Given the description of an element on the screen output the (x, y) to click on. 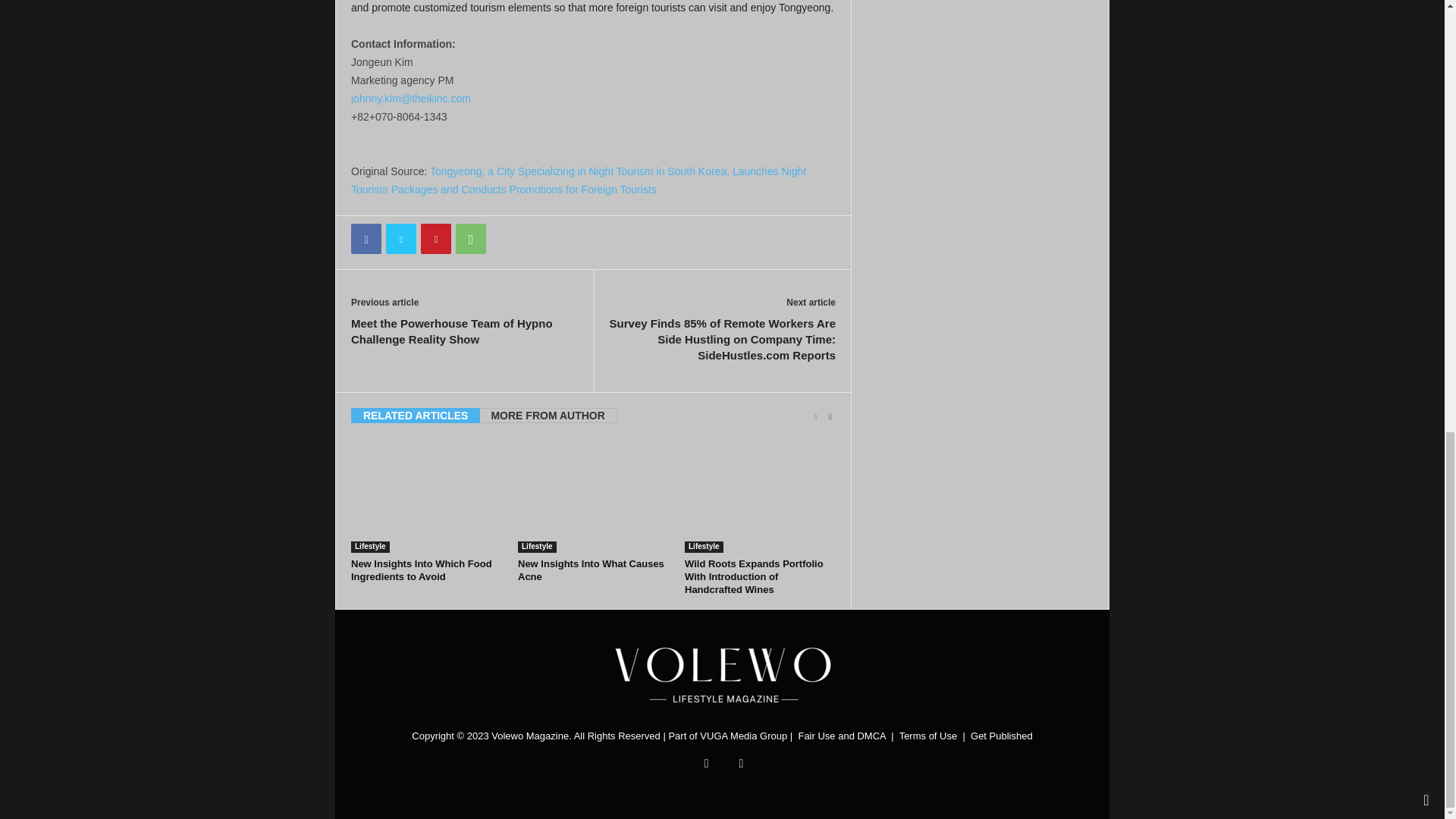
Meet the Powerhouse Team of Hypno Challenge Reality Show (464, 331)
RELATED ARTICLES (415, 415)
Twitter (400, 238)
Facebook (365, 238)
